Given the description of an element on the screen output the (x, y) to click on. 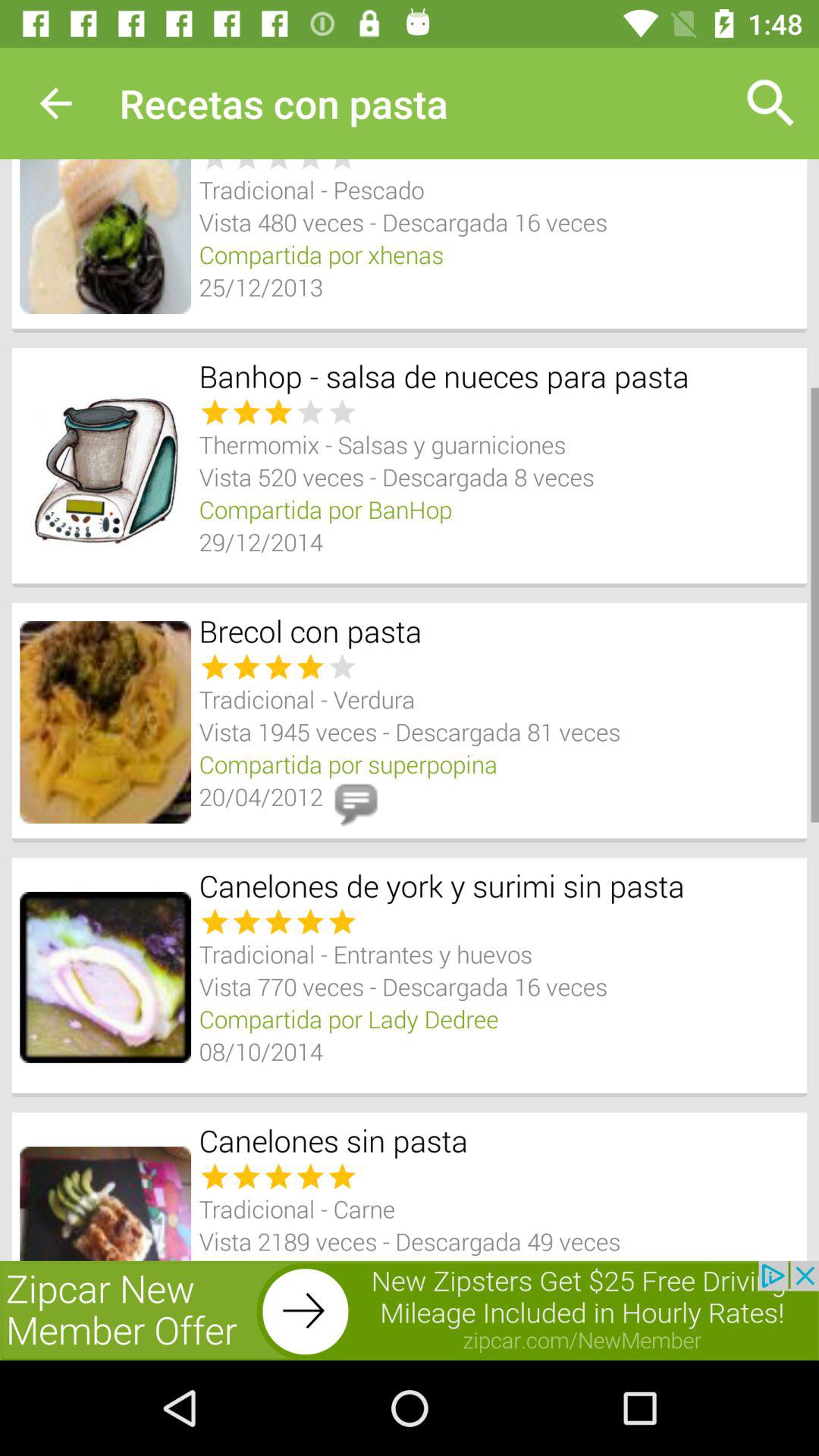
click on the image beside canelones sin pasta (104, 1203)
click on the image beside canelones de york y surimi sin pasta (104, 977)
